Given the description of an element on the screen output the (x, y) to click on. 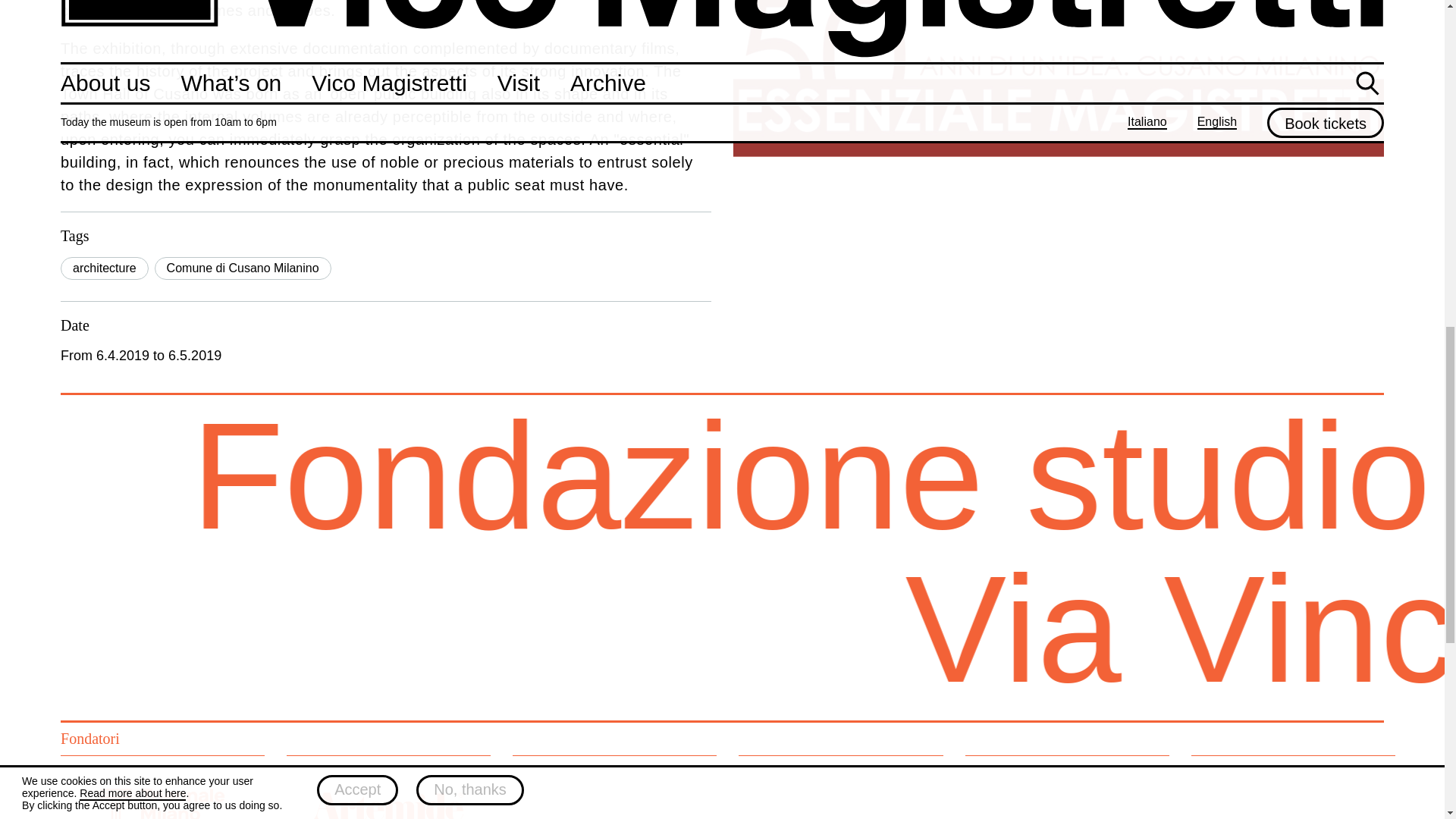
Artemide (388, 787)
De Padova (840, 787)
Oluce (1292, 787)
Comune di Cusano Milanino (242, 268)
Triennale Milano (162, 787)
architecture (104, 268)
Flou (1067, 787)
Cassina (614, 787)
